Given the description of an element on the screen output the (x, y) to click on. 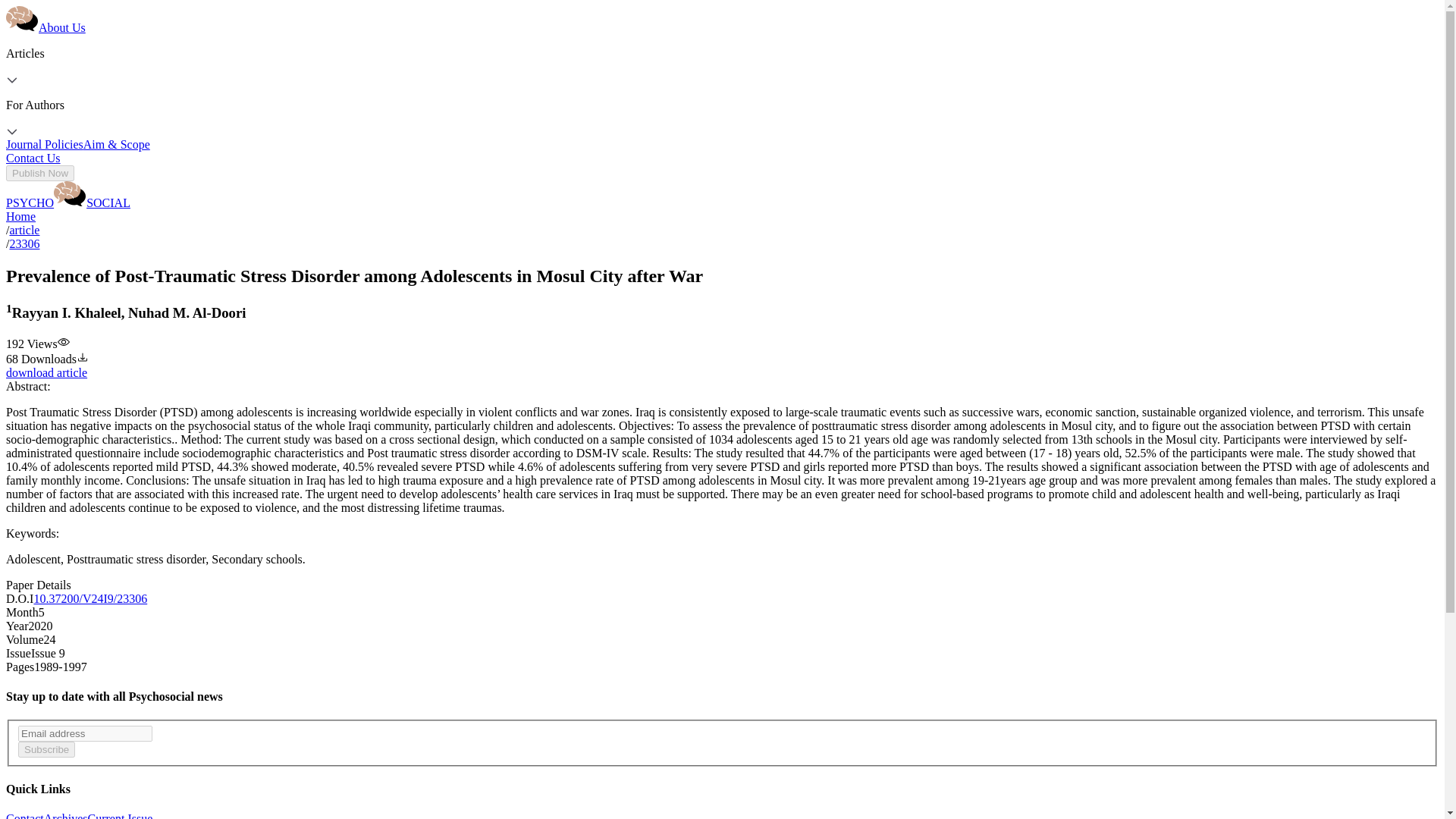
Home (19, 215)
Archives (65, 815)
Journal Policies (43, 144)
Publish Now (39, 172)
Contact (24, 815)
download article (46, 372)
About Us (62, 27)
PSYCHOSOCIAL (68, 202)
Current Issue (119, 815)
Publish Now (39, 172)
article (23, 229)
Subscribe (46, 749)
23306 (23, 243)
